Given the description of an element on the screen output the (x, y) to click on. 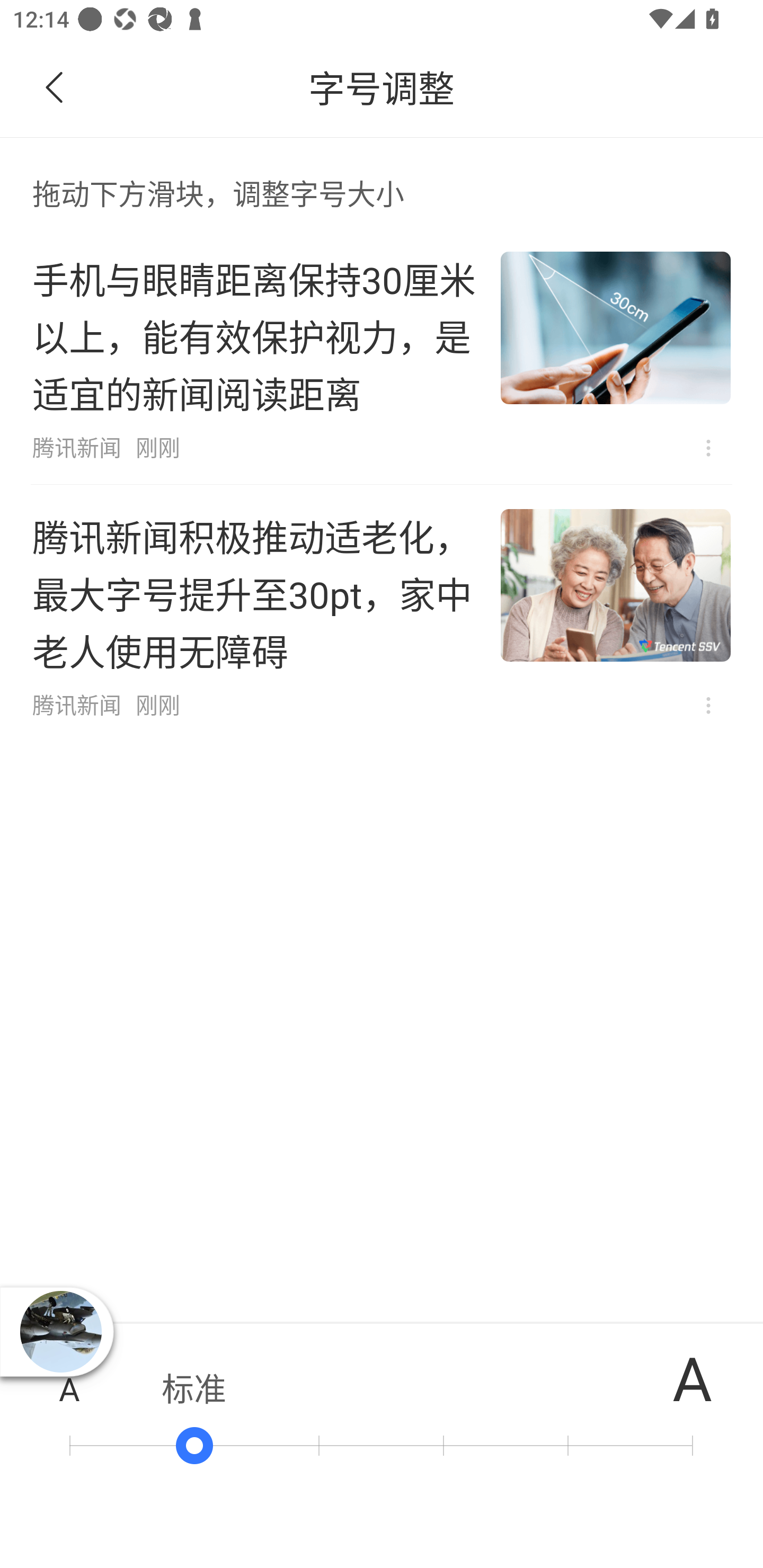
 返回 (54, 87)
手机与眼睛距离保持30厘米以上，能有效保护视力，是适宜的新闻阅读距离 腾讯新闻 刚刚  不感兴趣 (381, 355)
 不感兴趣 (707, 448)
腾讯新闻积极推动适老化，最大字号提升至30pt，家中老人使用无障碍 腾讯新闻 刚刚  不感兴趣 (381, 612)
 不感兴趣 (707, 705)
播放器 (60, 1331)
